Given the description of an element on the screen output the (x, y) to click on. 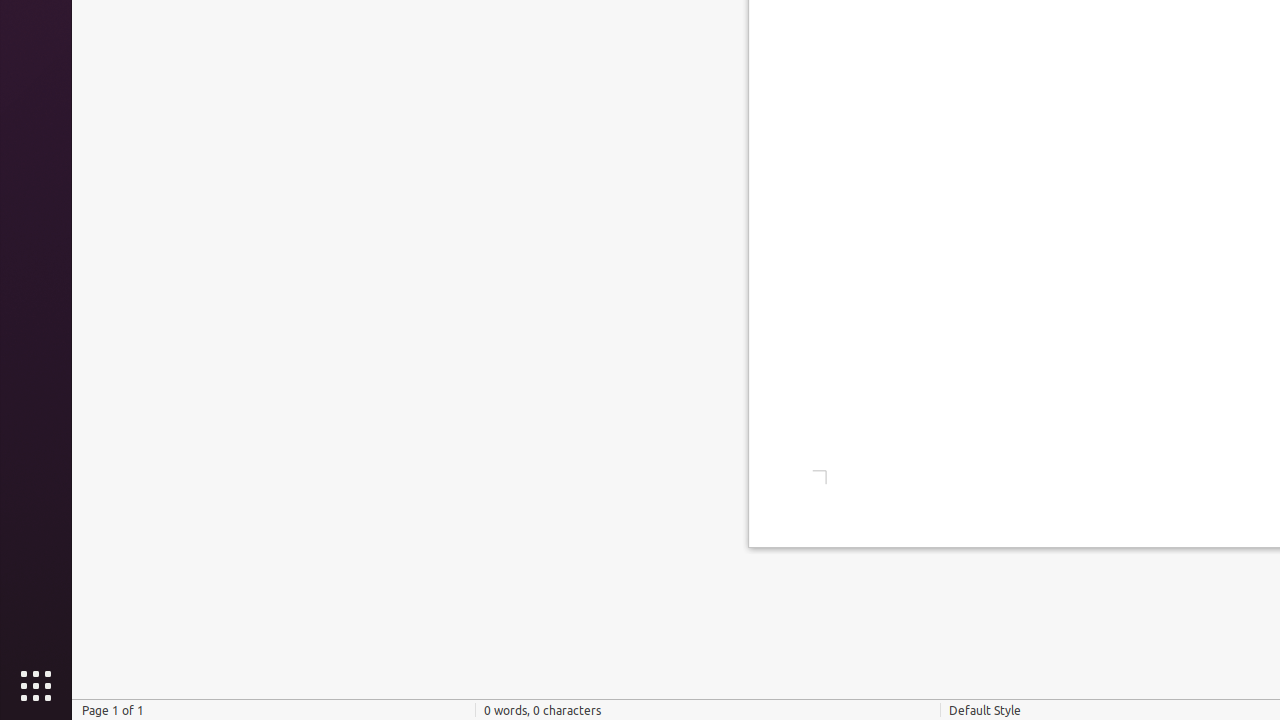
Show Applications Element type: toggle-button (36, 686)
